Given the description of an element on the screen output the (x, y) to click on. 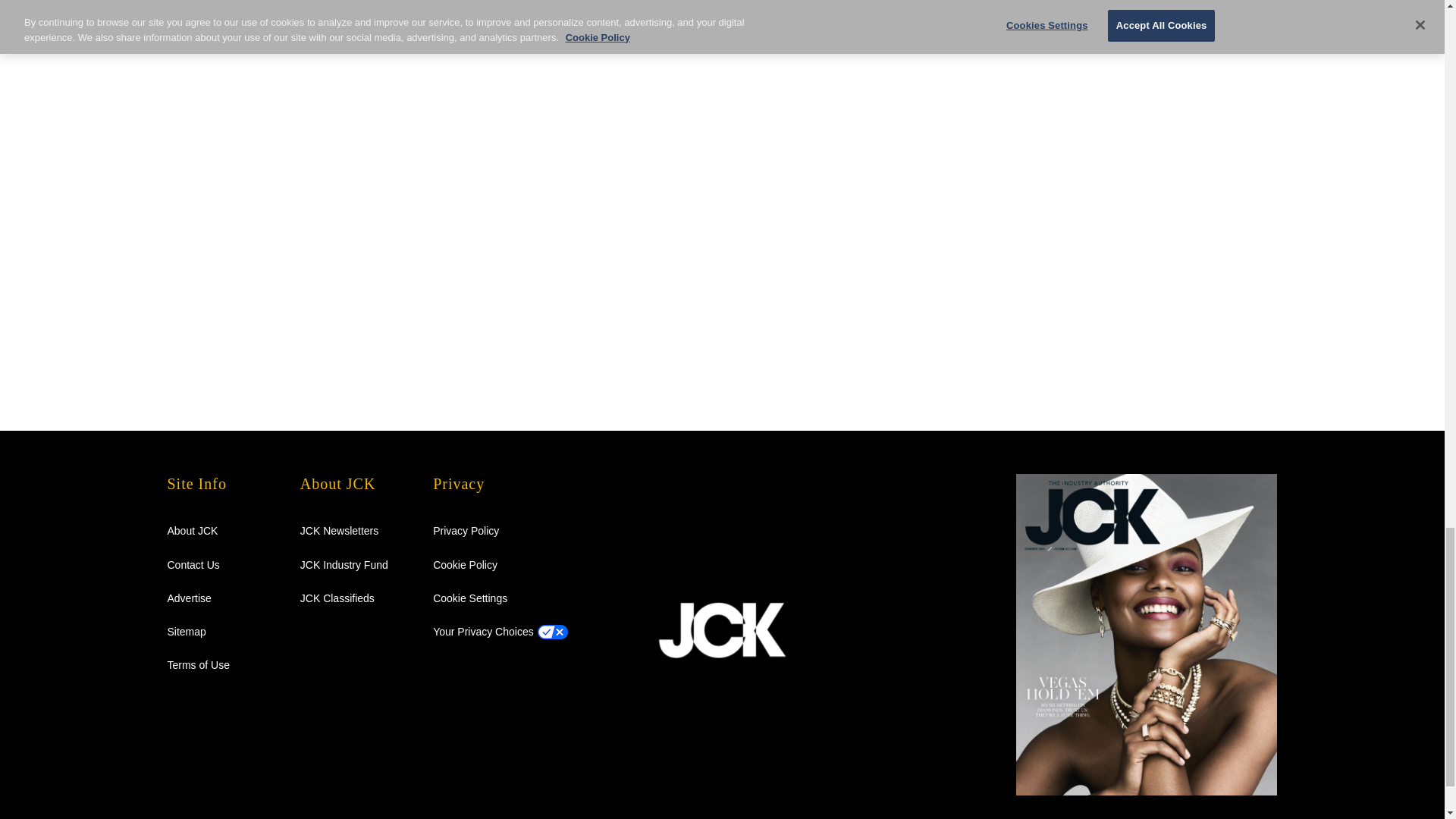
3rd party ad content (1037, 75)
privacy-choices (483, 631)
